Given the description of an element on the screen output the (x, y) to click on. 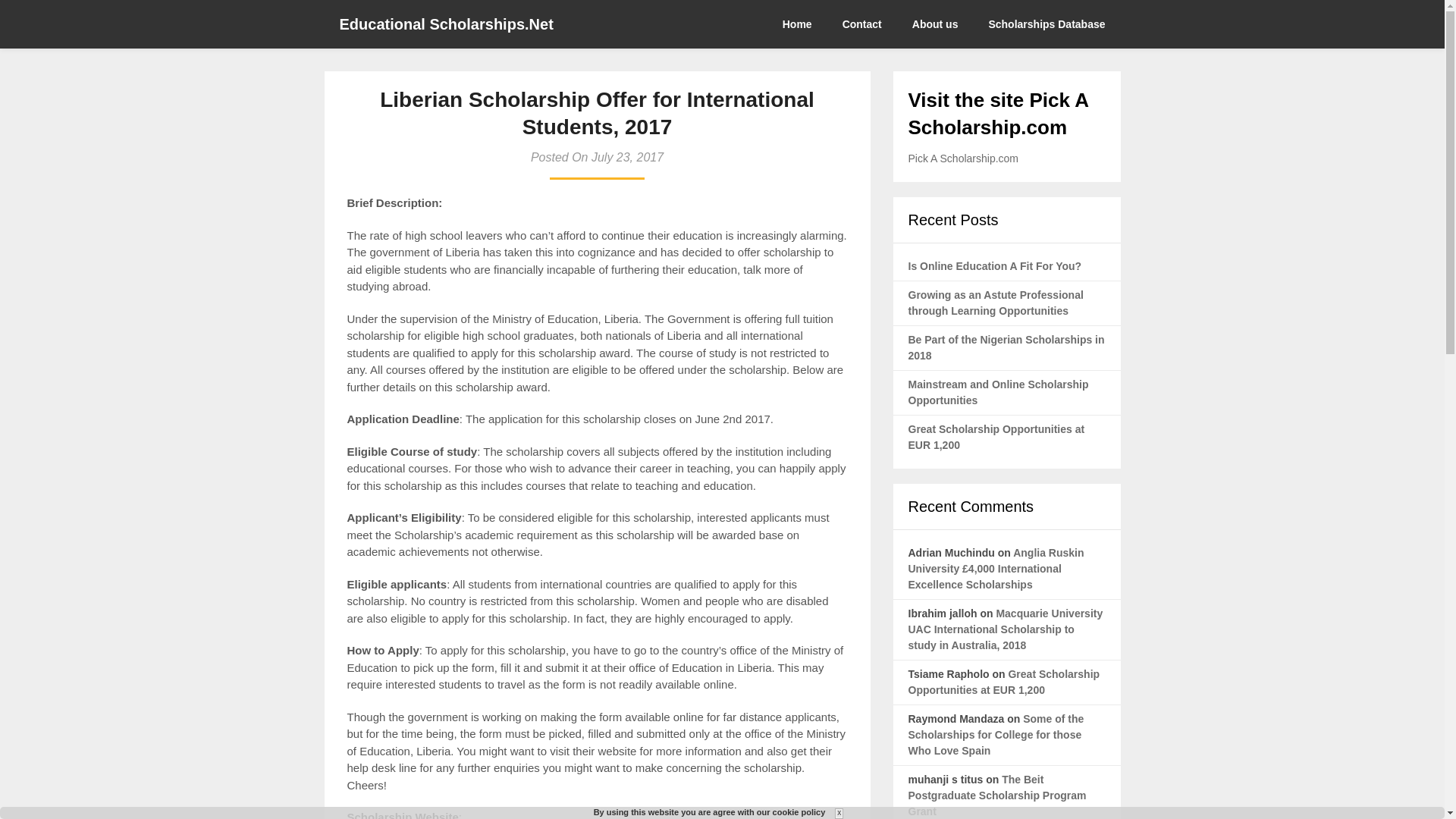
The Beit Postgraduate Scholarship Program Grant (997, 795)
Great Scholarship Opportunities at EUR 1,200 (1004, 682)
Mainstream and Online Scholarship Opportunities (998, 392)
Scholarships Database (1045, 24)
Home (805, 24)
Contact (861, 24)
Is Online Education A Fit For You? (994, 265)
Pick A Scholarship.com (963, 158)
Great Scholarship Opportunities at EUR 1,200 (996, 437)
Be Part of the Nigerian Scholarships in 2018 (1006, 347)
About us (935, 24)
Educational Scholarships.Net (446, 24)
